Given the description of an element on the screen output the (x, y) to click on. 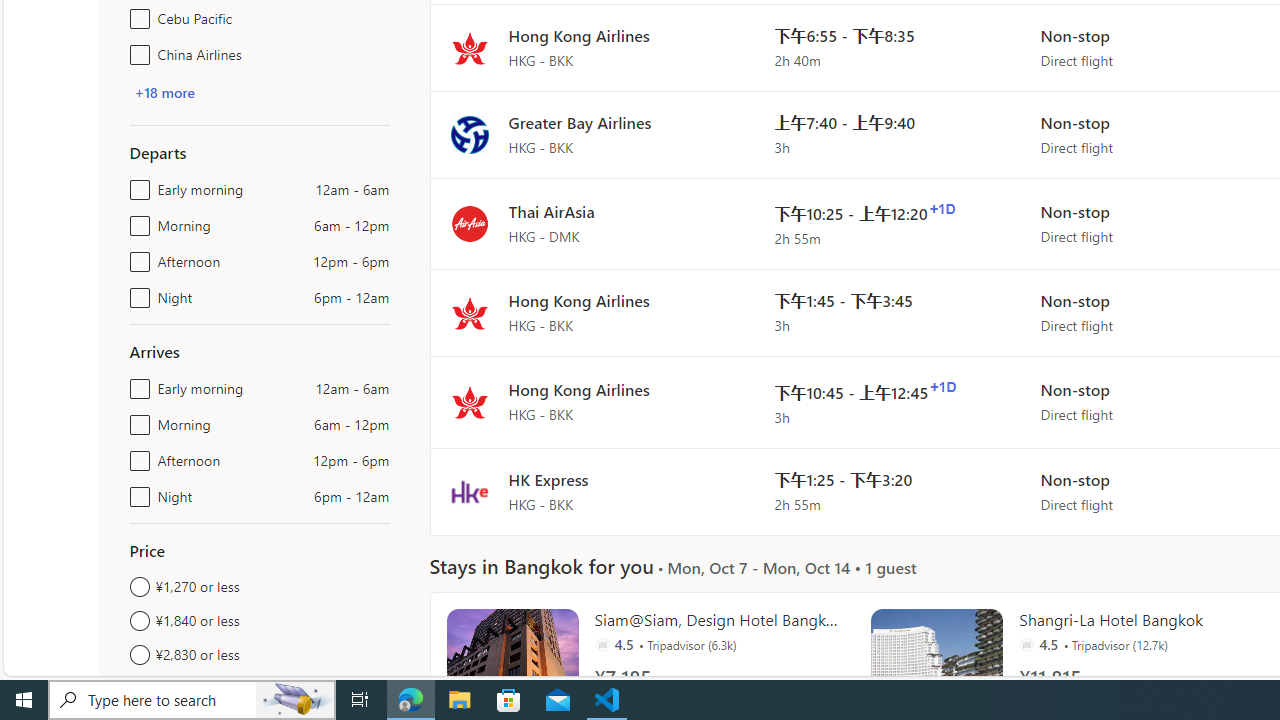
Flight logo (469, 491)
Night6pm - 12am (136, 492)
Any price (259, 688)
Cebu Pacific (136, 14)
Morning6am - 12pm (136, 420)
+18 more (164, 92)
Afternoon12pm - 6pm (136, 456)
Tripadvisor (1026, 644)
China Airlines (136, 50)
Early morning12am - 6am (136, 384)
